Given the description of an element on the screen output the (x, y) to click on. 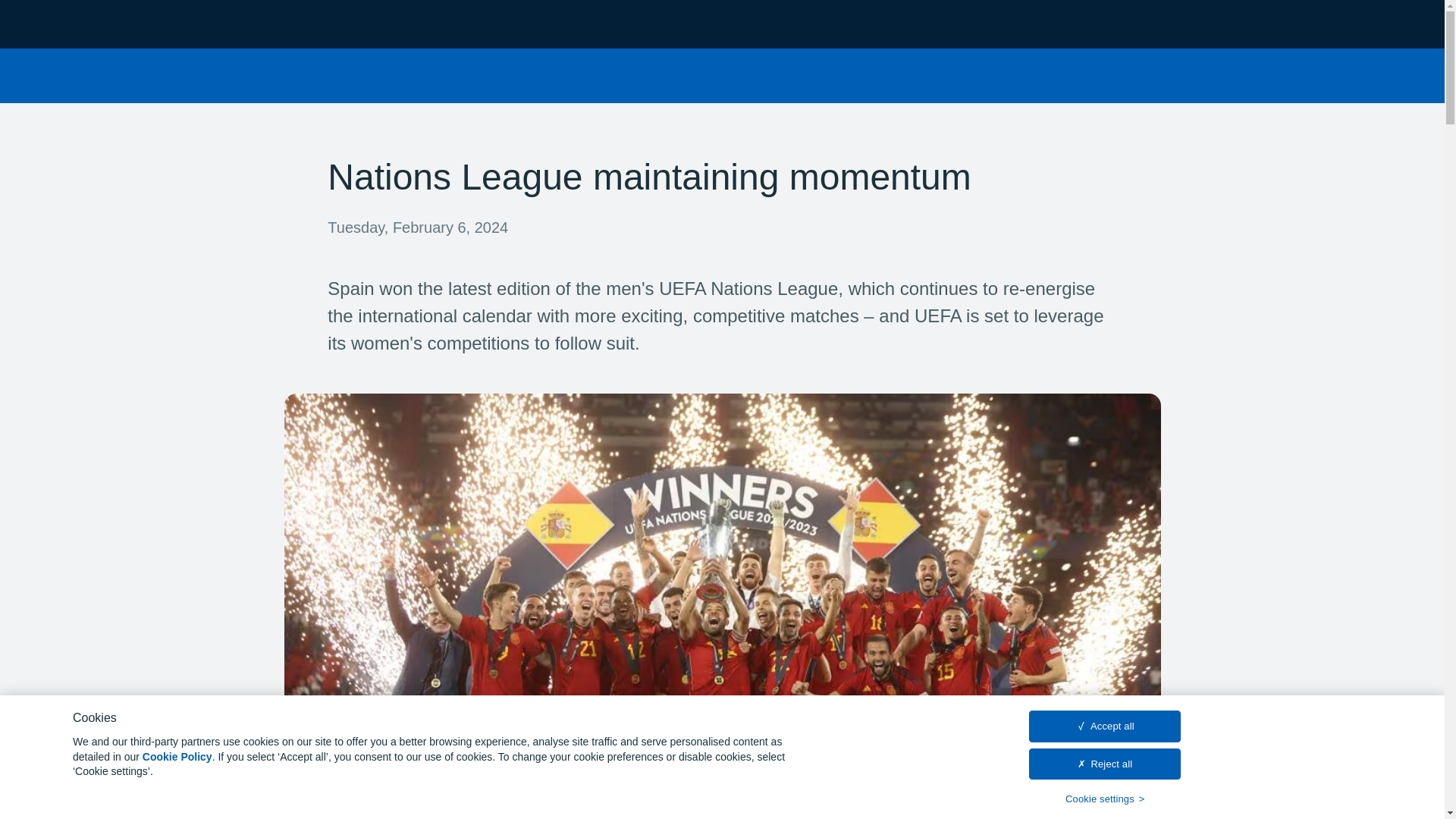
Accept all (1104, 726)
Reject all (1104, 764)
Cookie Policy (177, 756)
Cookie settings (1104, 798)
